Given the description of an element on the screen output the (x, y) to click on. 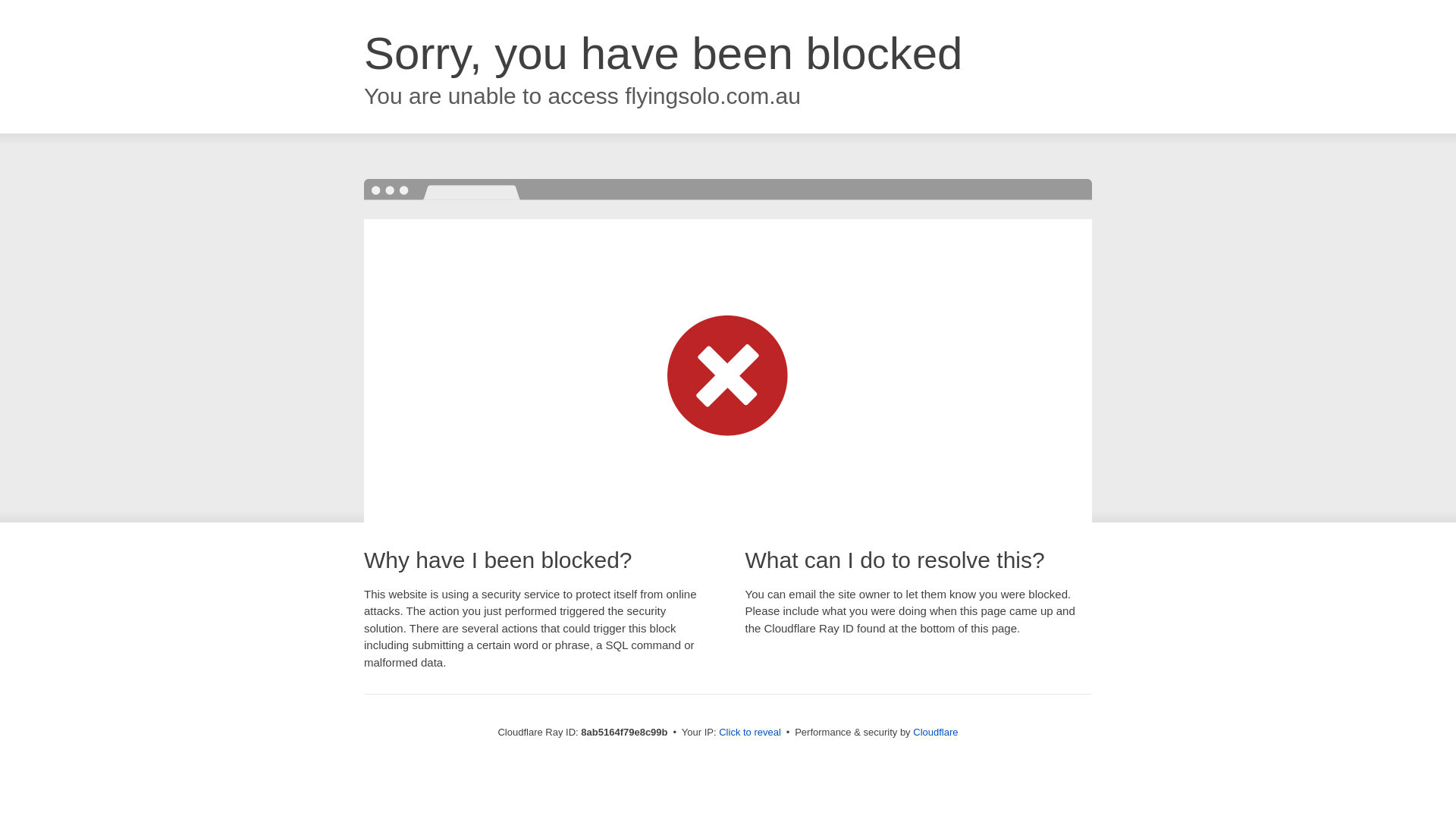
Click to reveal (749, 732)
Cloudflare (935, 731)
